Given the description of an element on the screen output the (x, y) to click on. 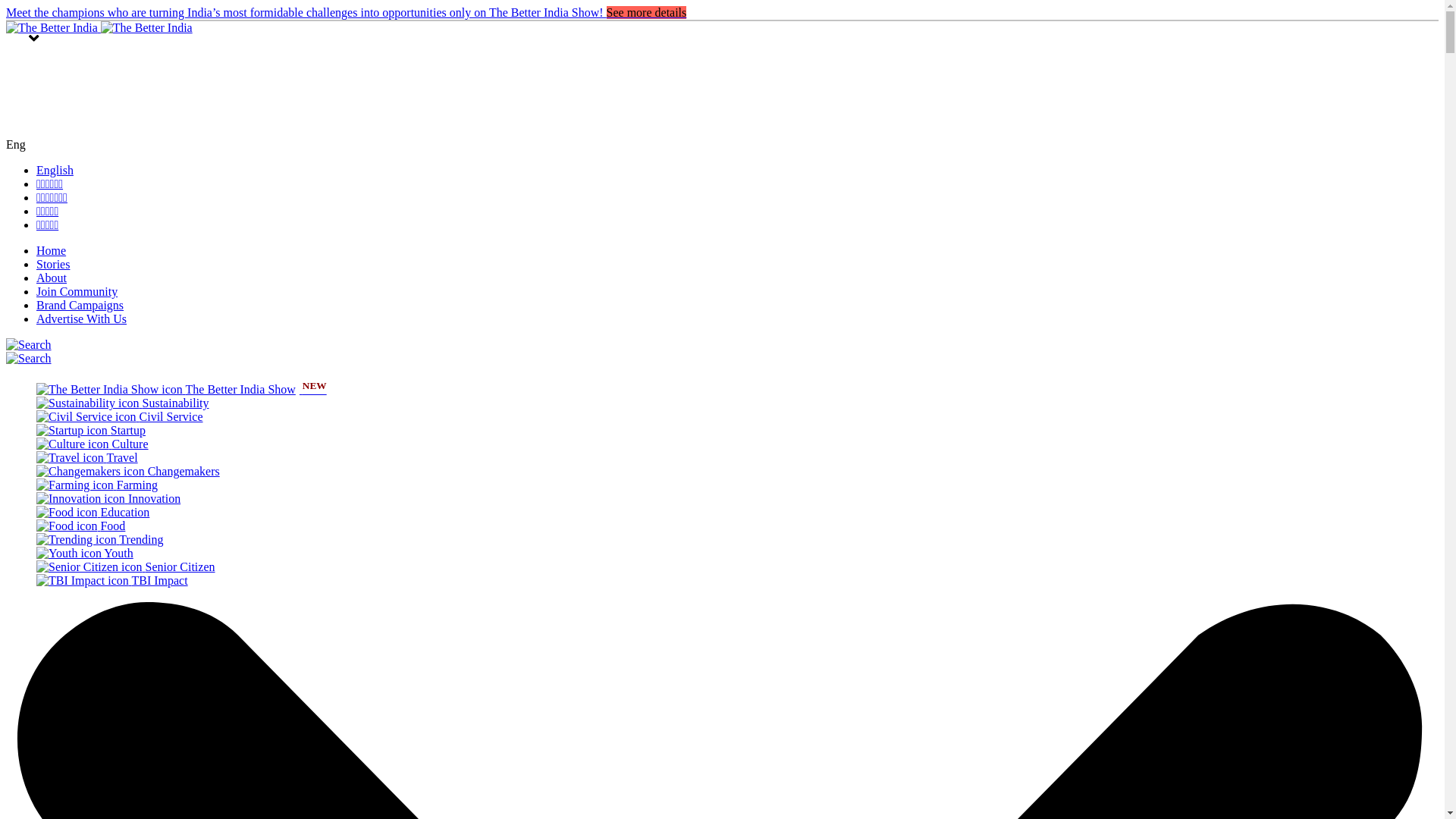
Search (27, 345)
Farming (96, 484)
Advertise With Us (81, 318)
TBI Impact (111, 580)
Travel (87, 457)
About (51, 277)
Senior Citizen (125, 566)
Food (80, 525)
Brand Campaigns (79, 305)
Sustainability (122, 402)
